Given the description of an element on the screen output the (x, y) to click on. 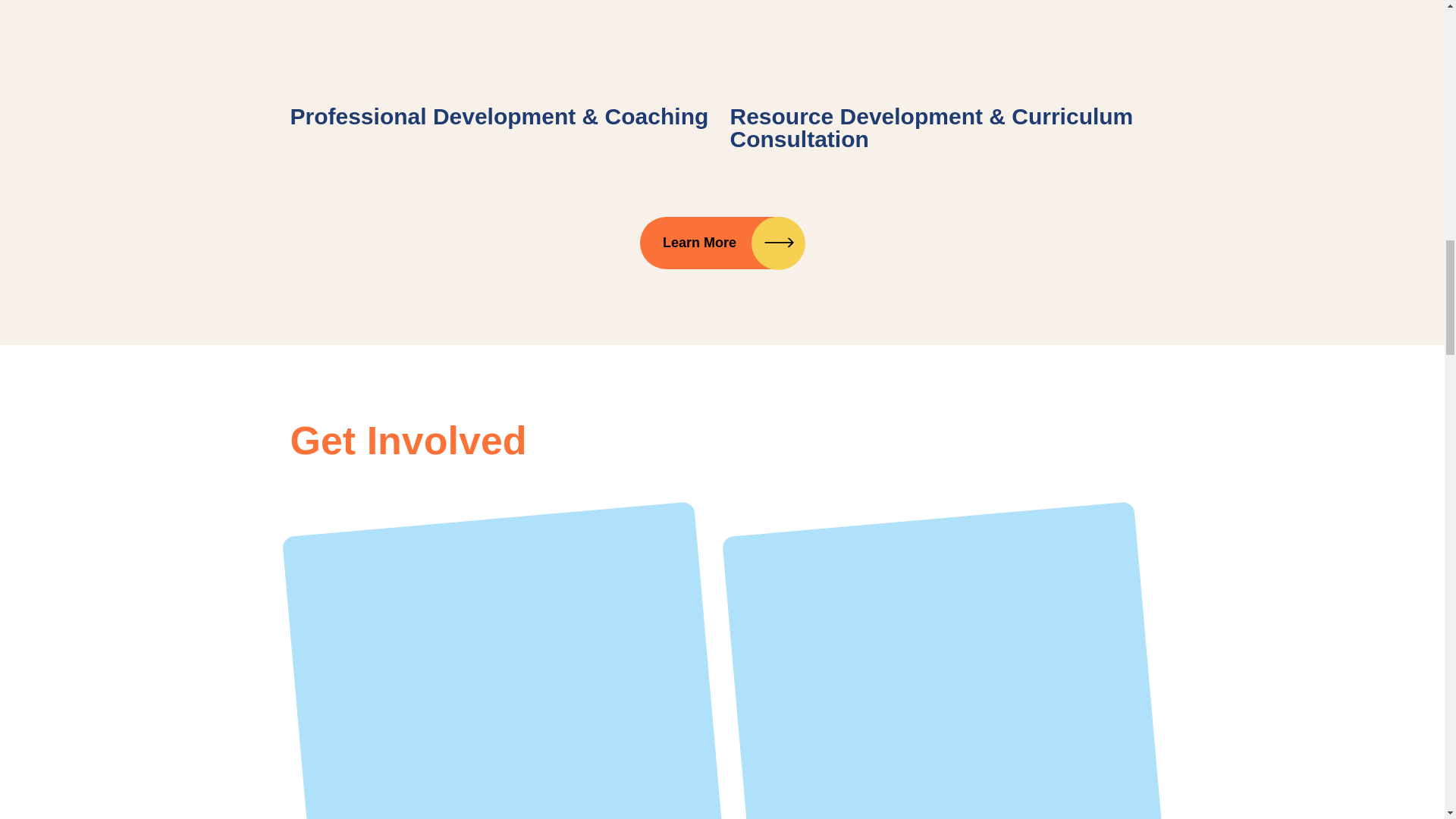
Learn More (722, 243)
